Given the description of an element on the screen output the (x, y) to click on. 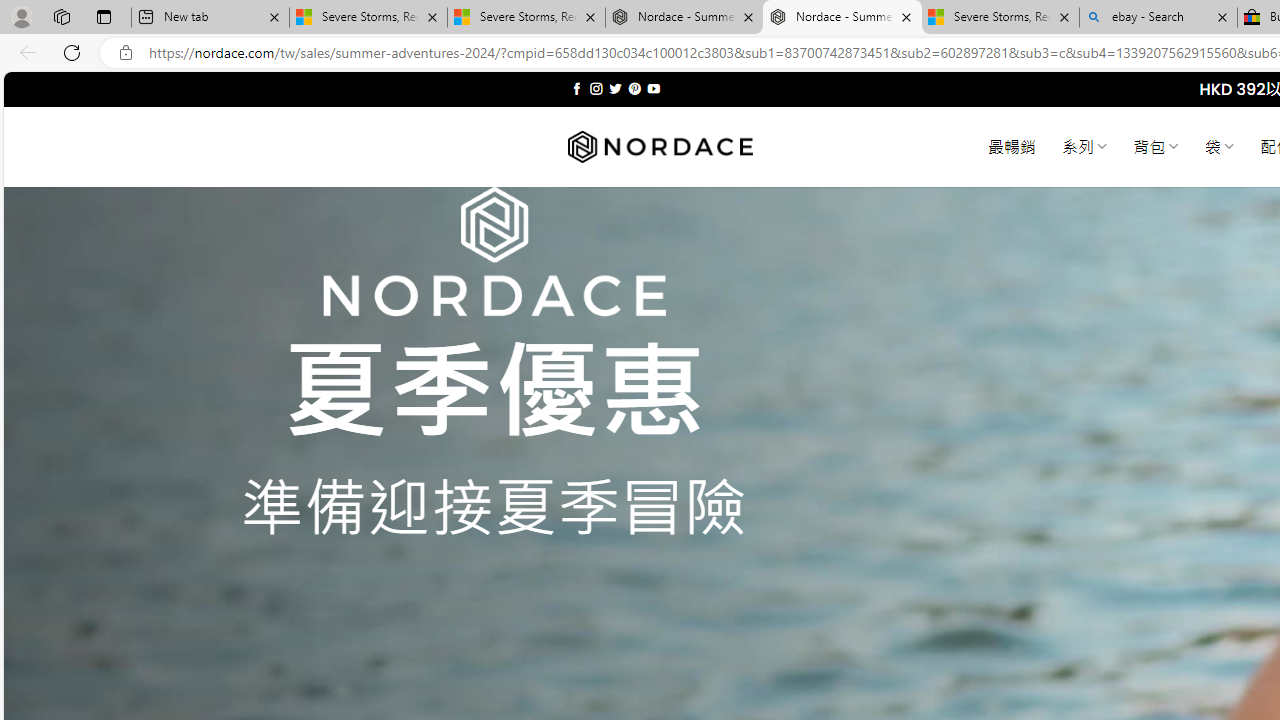
Follow on Facebook (576, 88)
Follow on Instagram (596, 88)
Nordace - Summer Adventures 2024 (842, 17)
